Given the description of an element on the screen output the (x, y) to click on. 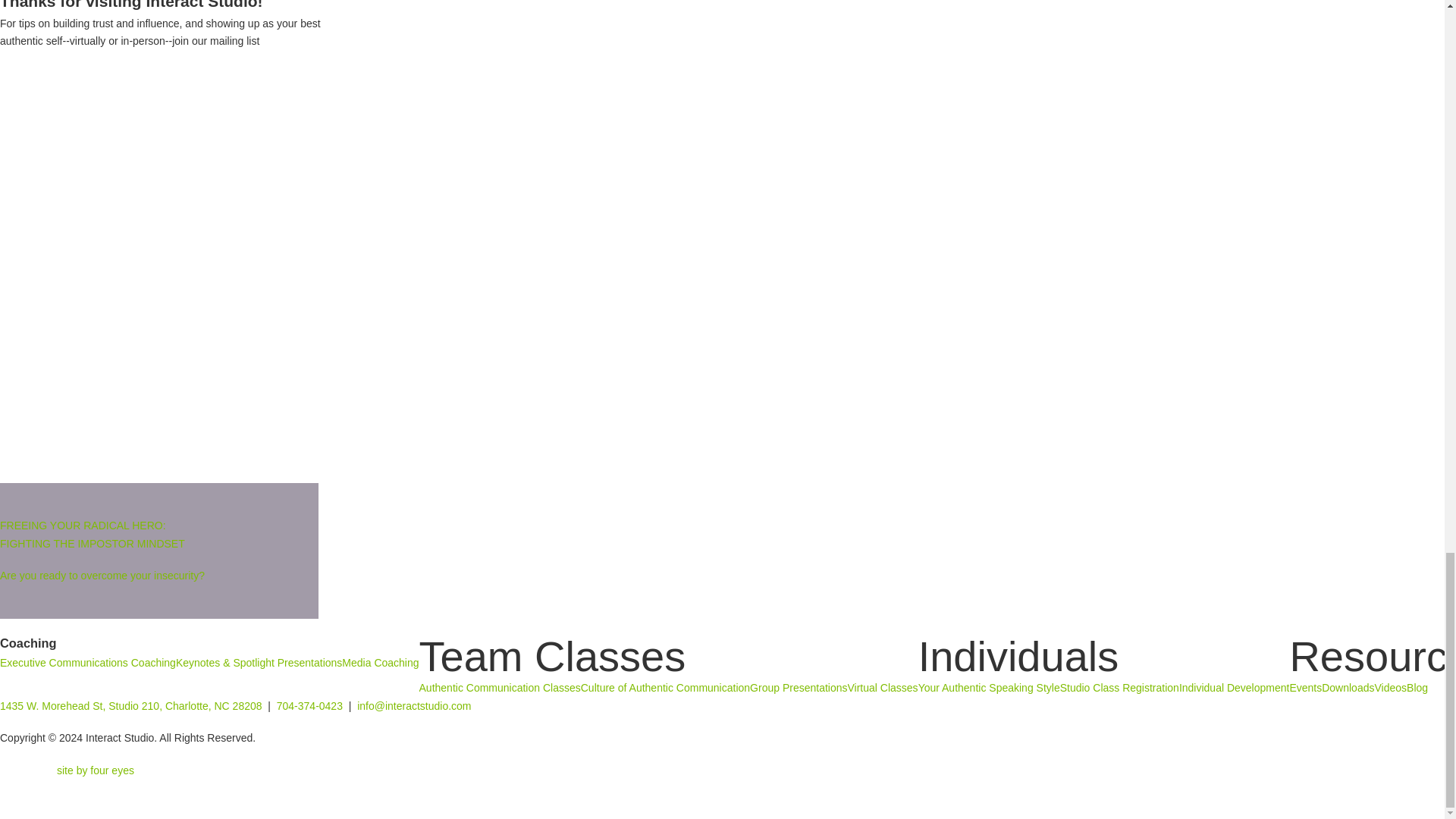
Media Coaching (380, 663)
Executive Communications Coaching (88, 663)
Your Authentic Speaking Style (988, 688)
Studio Class Registration (1119, 688)
Events (1305, 688)
Virtual Classes (882, 688)
Individual Development (1234, 688)
Culture of Authentic Communication (664, 688)
Group Presentations (798, 688)
